Given the description of an element on the screen output the (x, y) to click on. 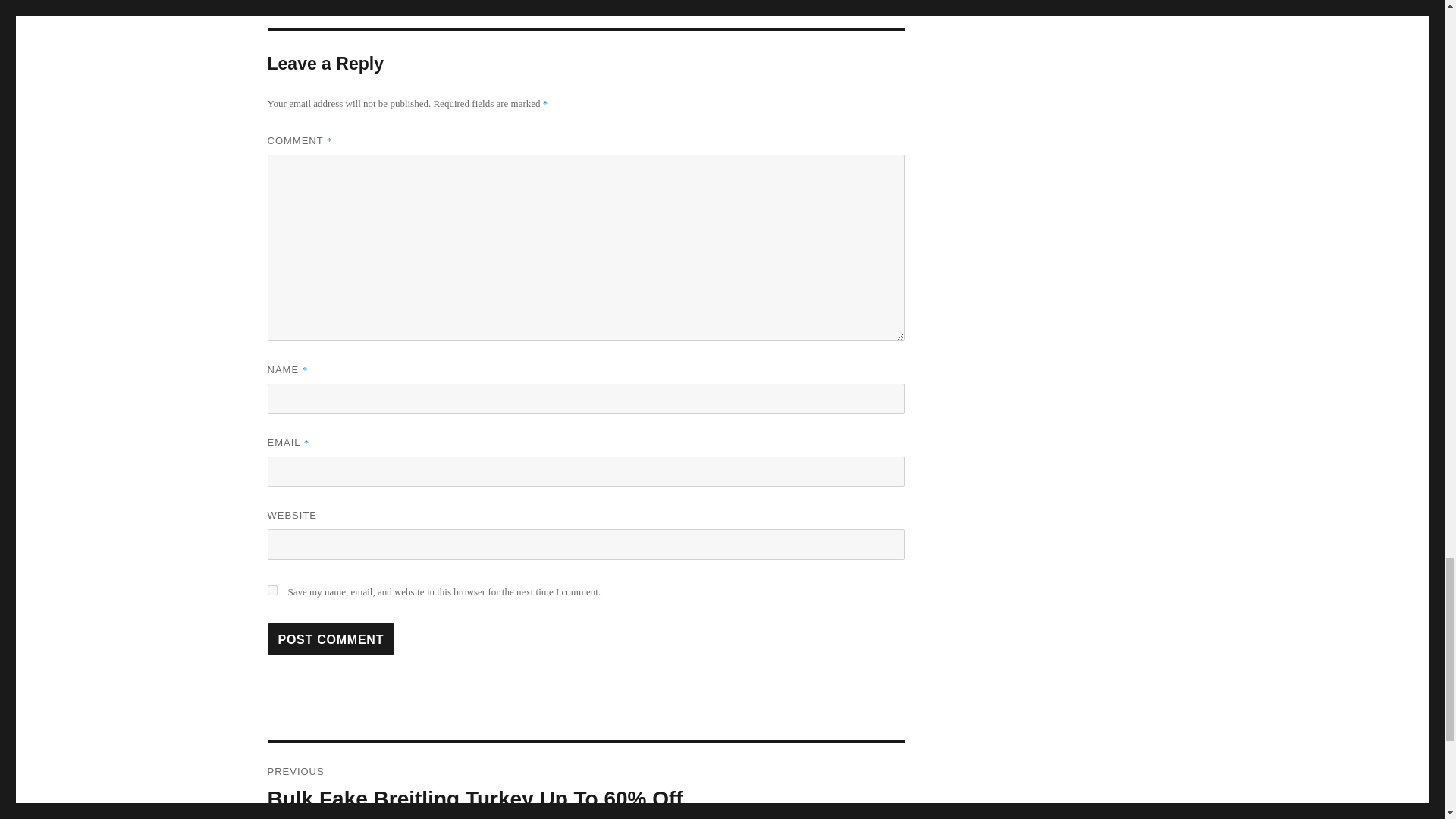
yes (271, 590)
Post Comment (330, 639)
Post Comment (330, 639)
